Given the description of an element on the screen output the (x, y) to click on. 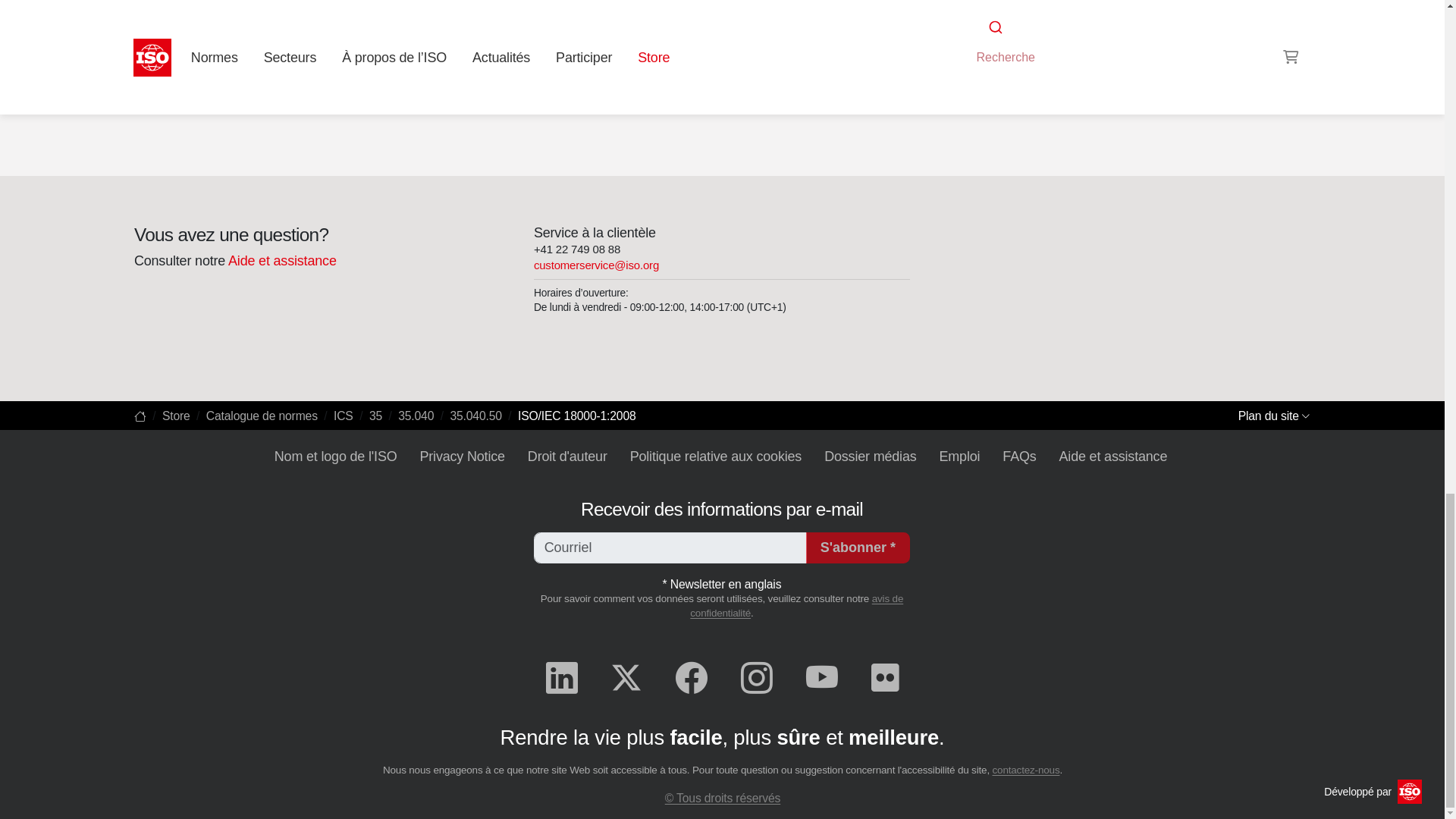
Page d'accueil (139, 415)
Stade: 95.99 (391, 56)
help-support (281, 260)
